Given the description of an element on the screen output the (x, y) to click on. 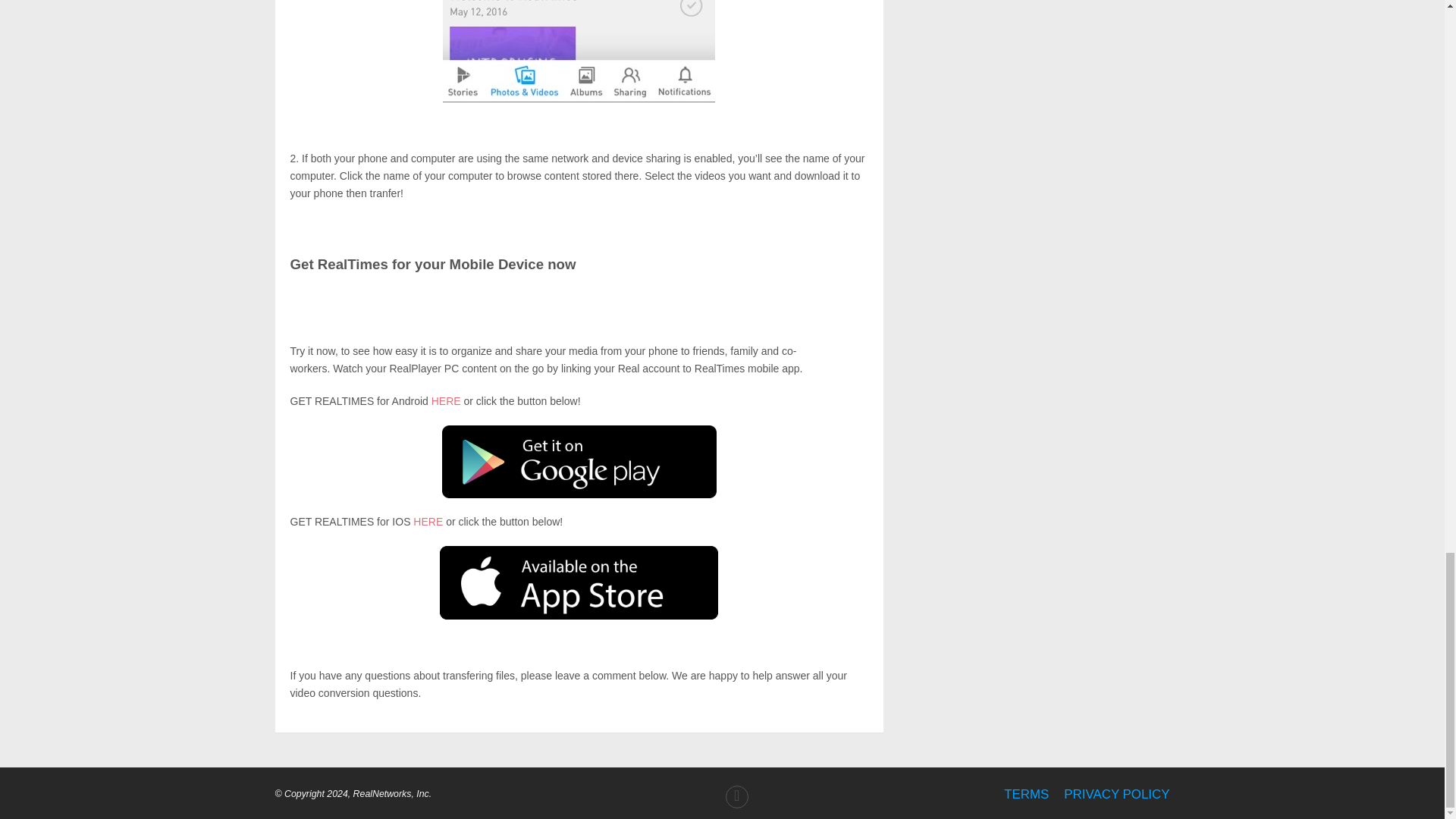
HERE (445, 400)
HERE (427, 521)
PRIVACY POLICY (1116, 794)
TERMS (1026, 794)
